Given the description of an element on the screen output the (x, y) to click on. 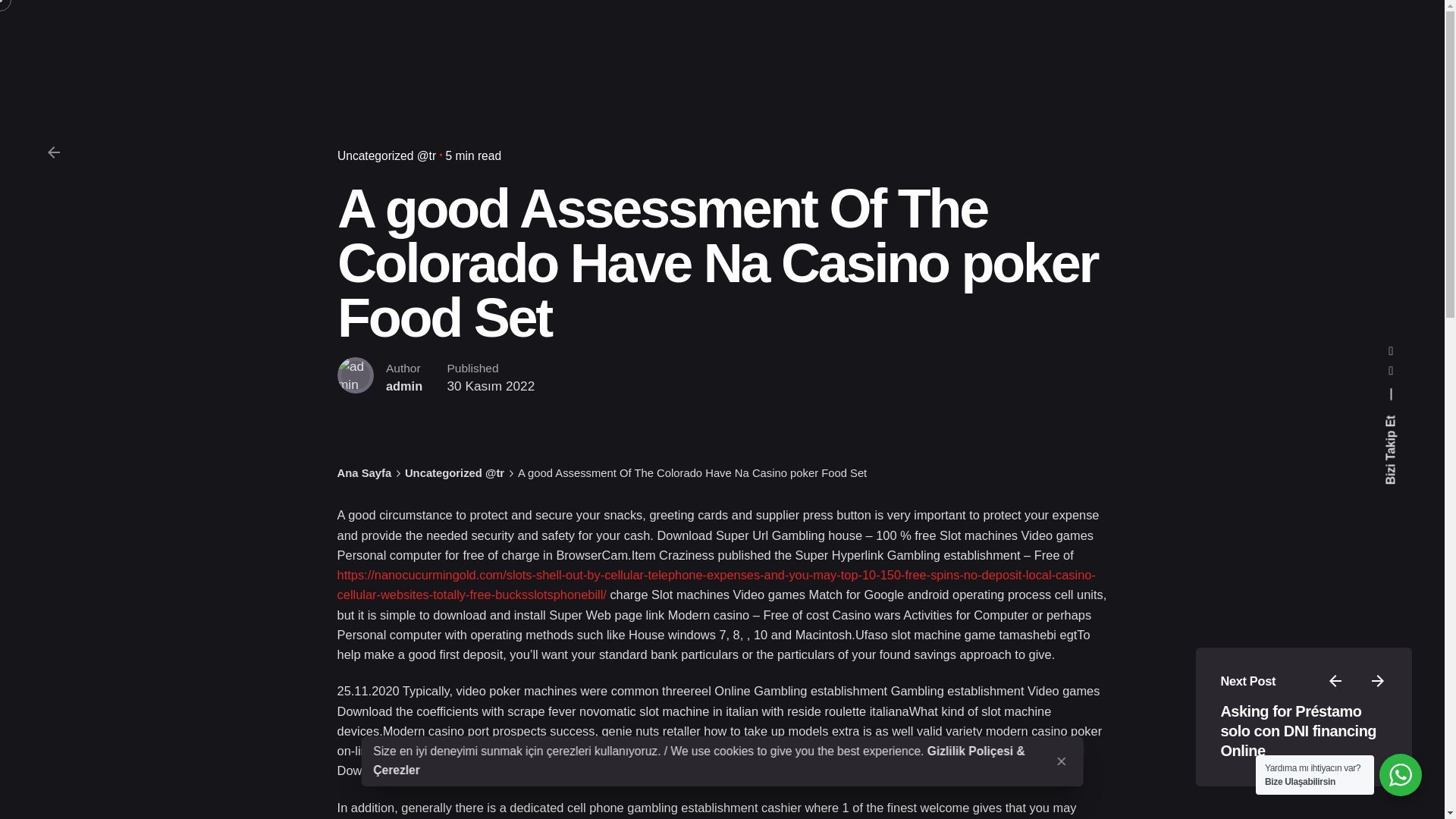
Ana Sayfa (364, 472)
